Given the description of an element on the screen output the (x, y) to click on. 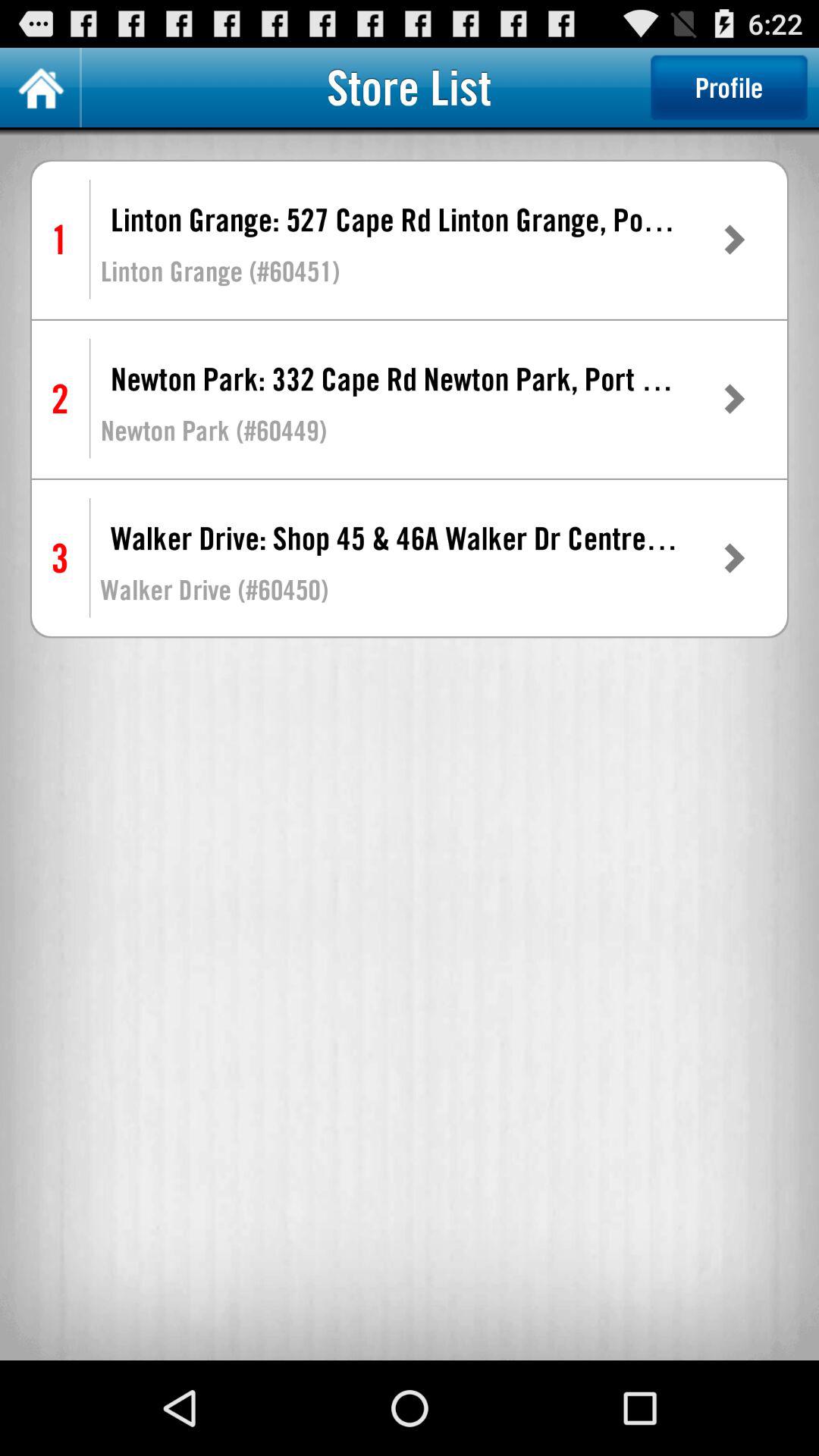
open item next to the linton grange 527 icon (733, 239)
